Given the description of an element on the screen output the (x, y) to click on. 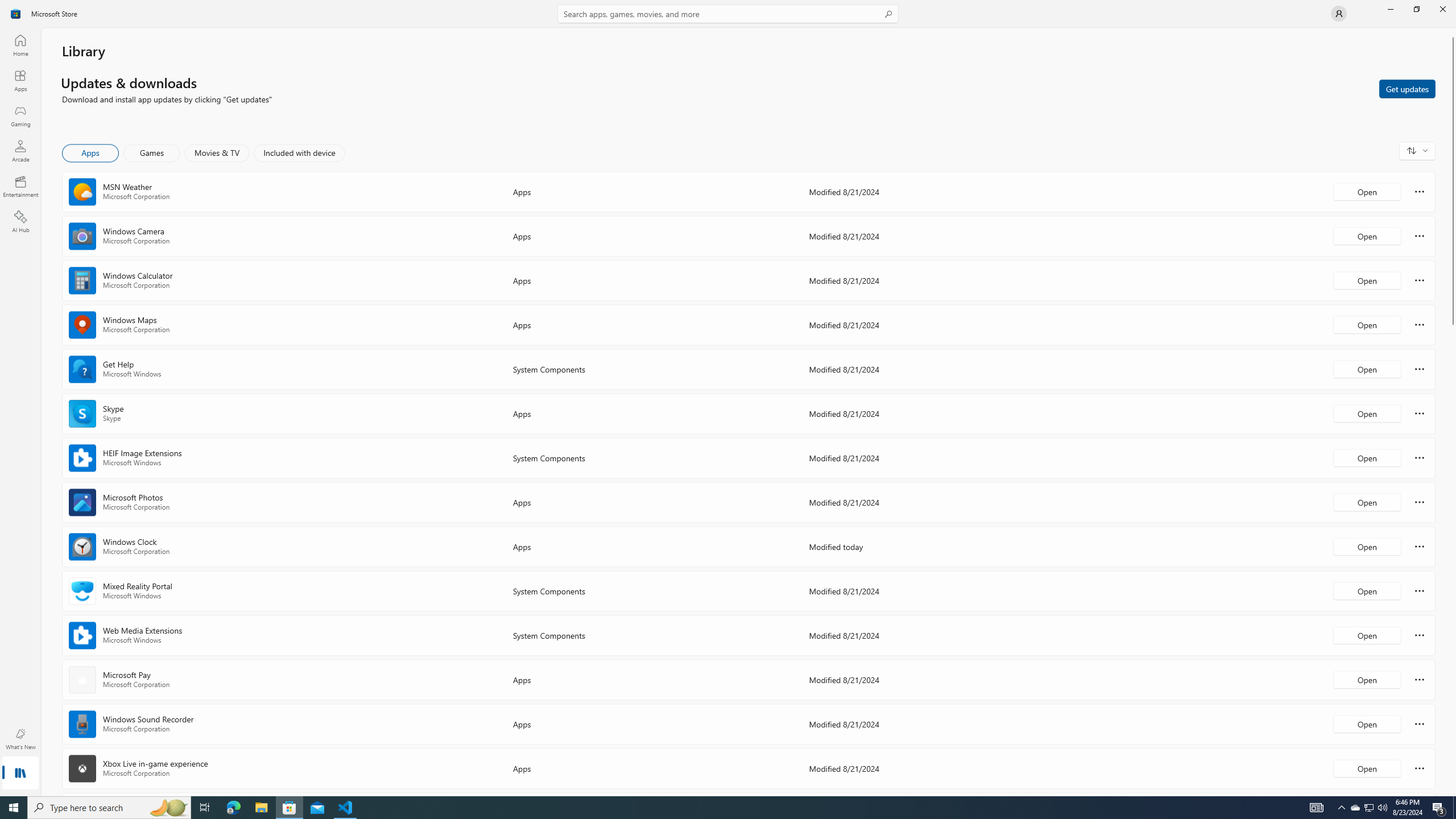
Vertical Small Decrease (1452, 31)
Vertical (1452, 412)
More options (1419, 768)
Games (151, 153)
Vertical Small Increase (1452, 792)
Open (1366, 768)
